Given the description of an element on the screen output the (x, y) to click on. 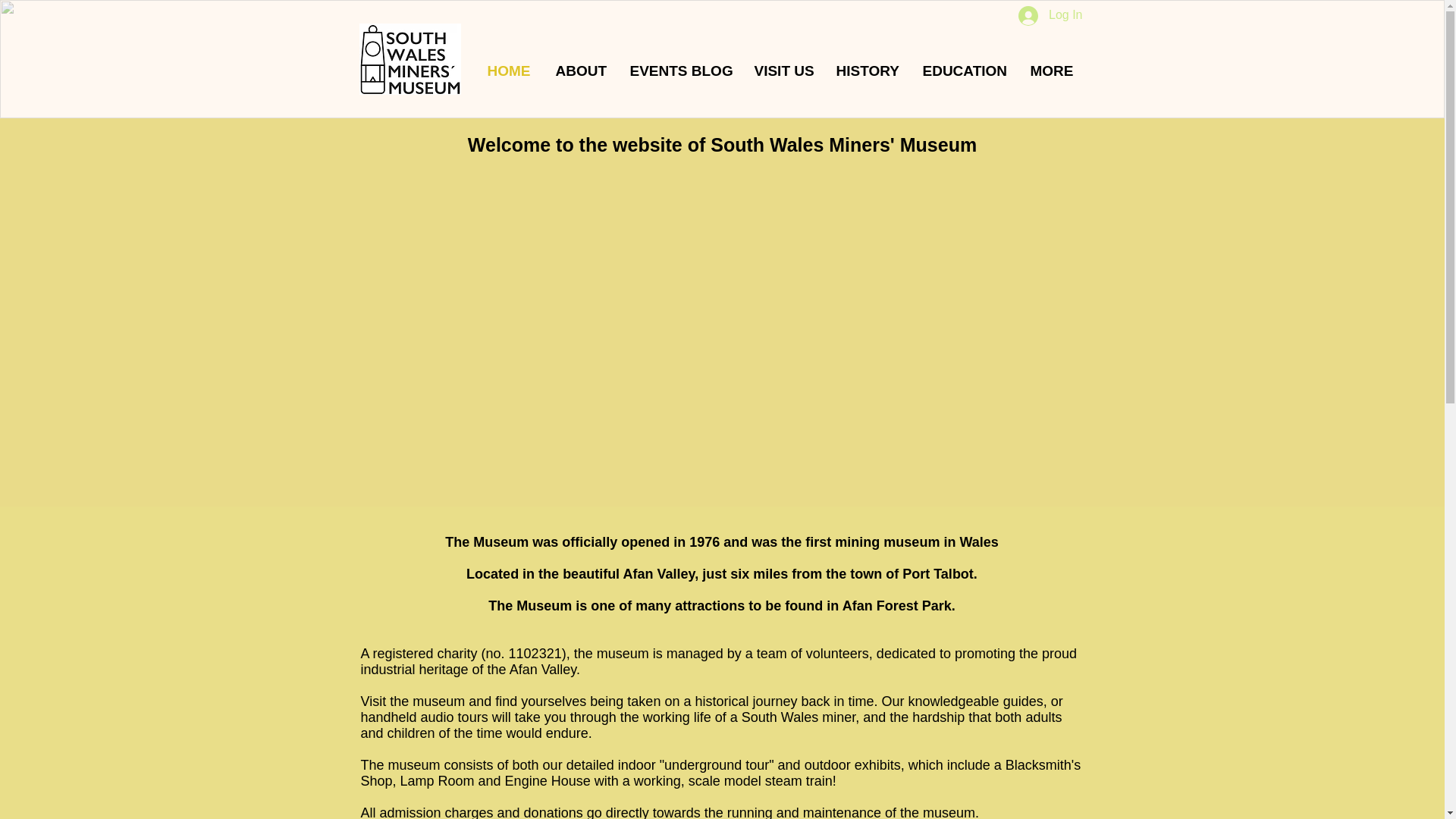
Log In (1050, 15)
EVENTS BLOG (680, 70)
HISTORY (868, 70)
VISIT US (783, 70)
HOME (510, 70)
ABOUT (581, 70)
EDUCATION (965, 70)
